Given the description of an element on the screen output the (x, y) to click on. 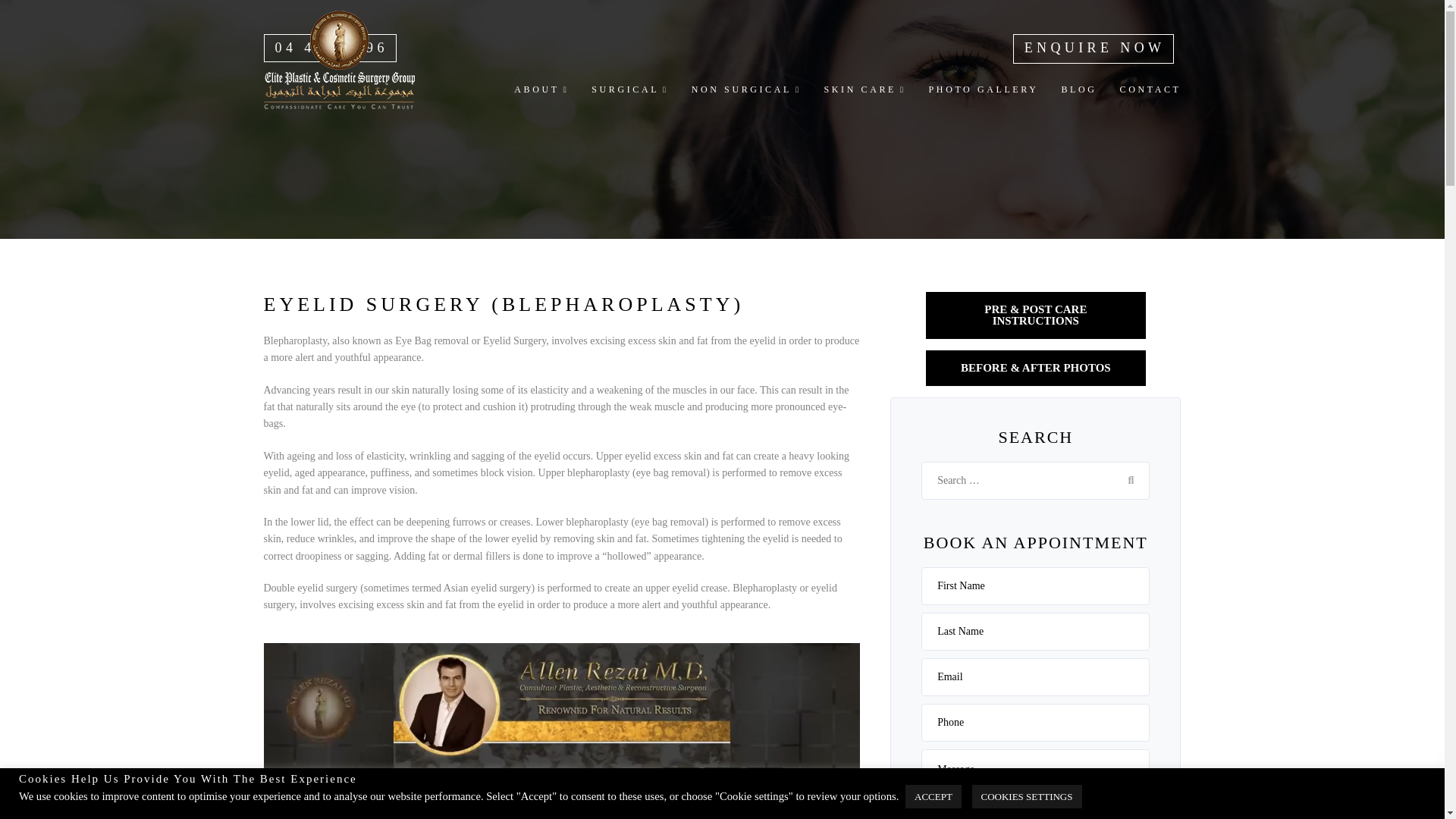
ENQUIRE NOW (1095, 47)
SURGICAL (629, 88)
04 431 2396 (334, 47)
ABOUT (540, 88)
ABOUT (540, 88)
SURGICAL (629, 88)
